Given the description of an element on the screen output the (x, y) to click on. 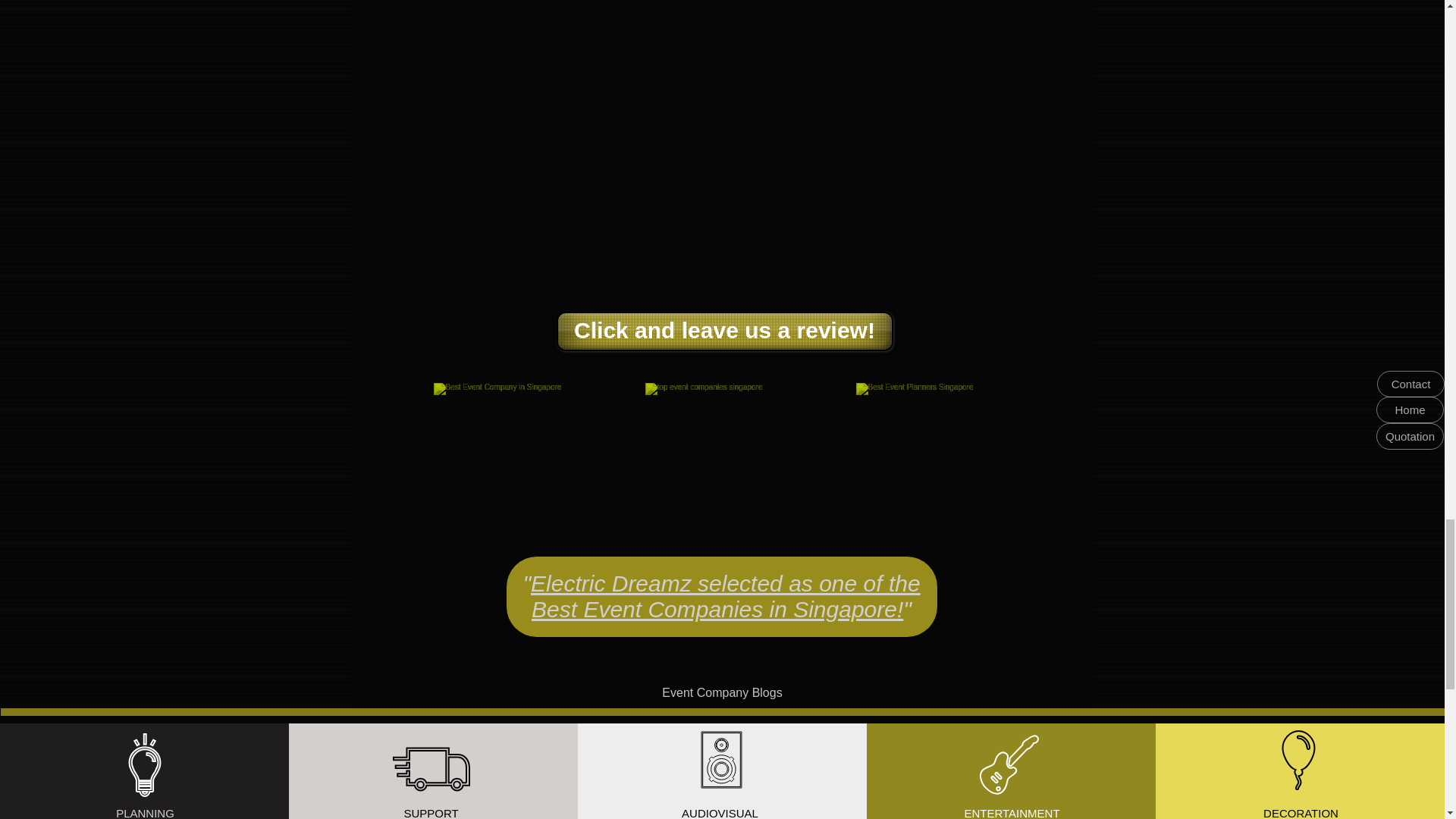
Top Event Companies in Singapore (721, 457)
Top Event Company in Singapore (509, 457)
Top Event Planning Company in Singapore (932, 457)
